Given the description of an element on the screen output the (x, y) to click on. 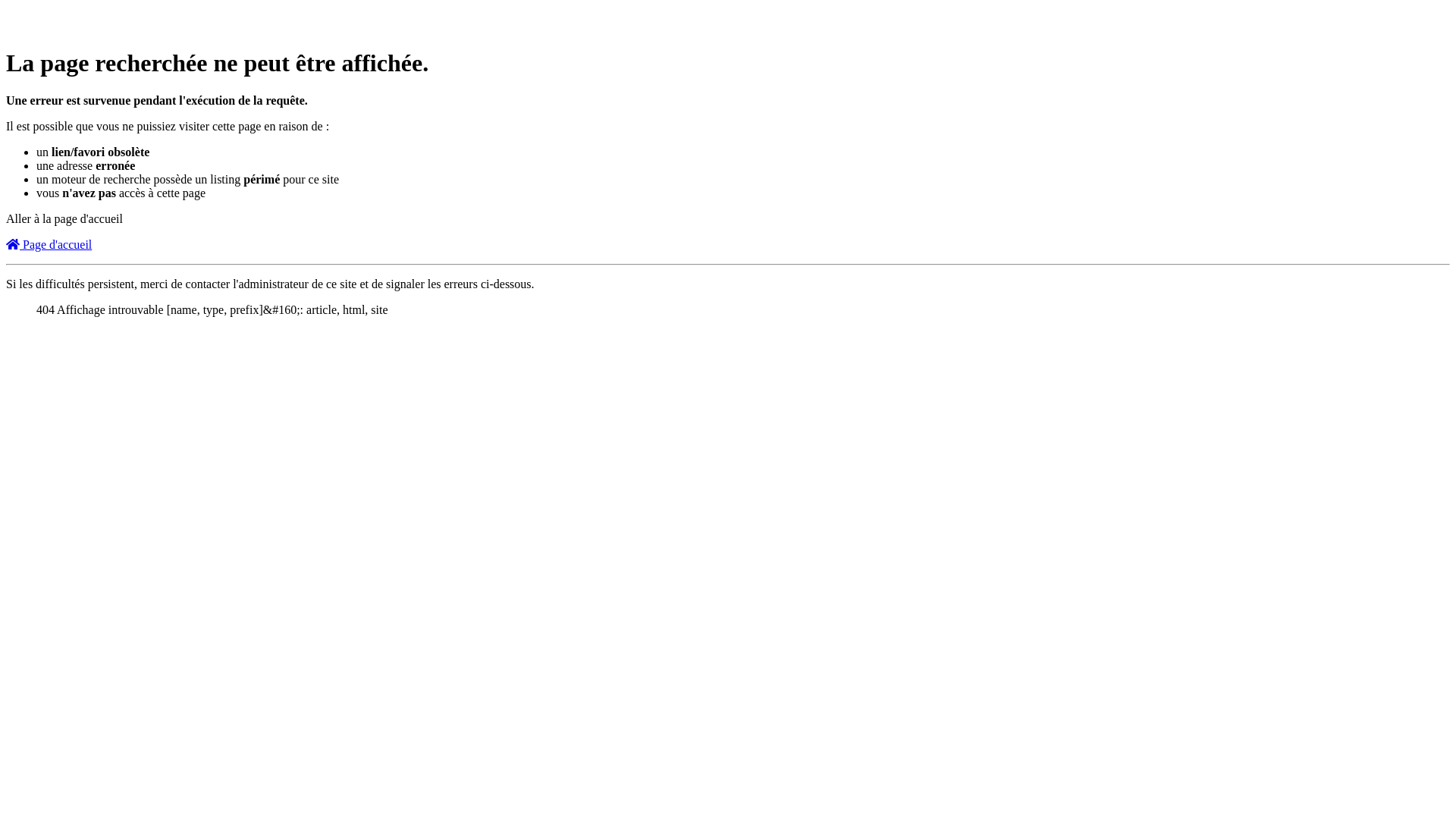
Page d'accueil Element type: text (48, 244)
